Given the description of an element on the screen output the (x, y) to click on. 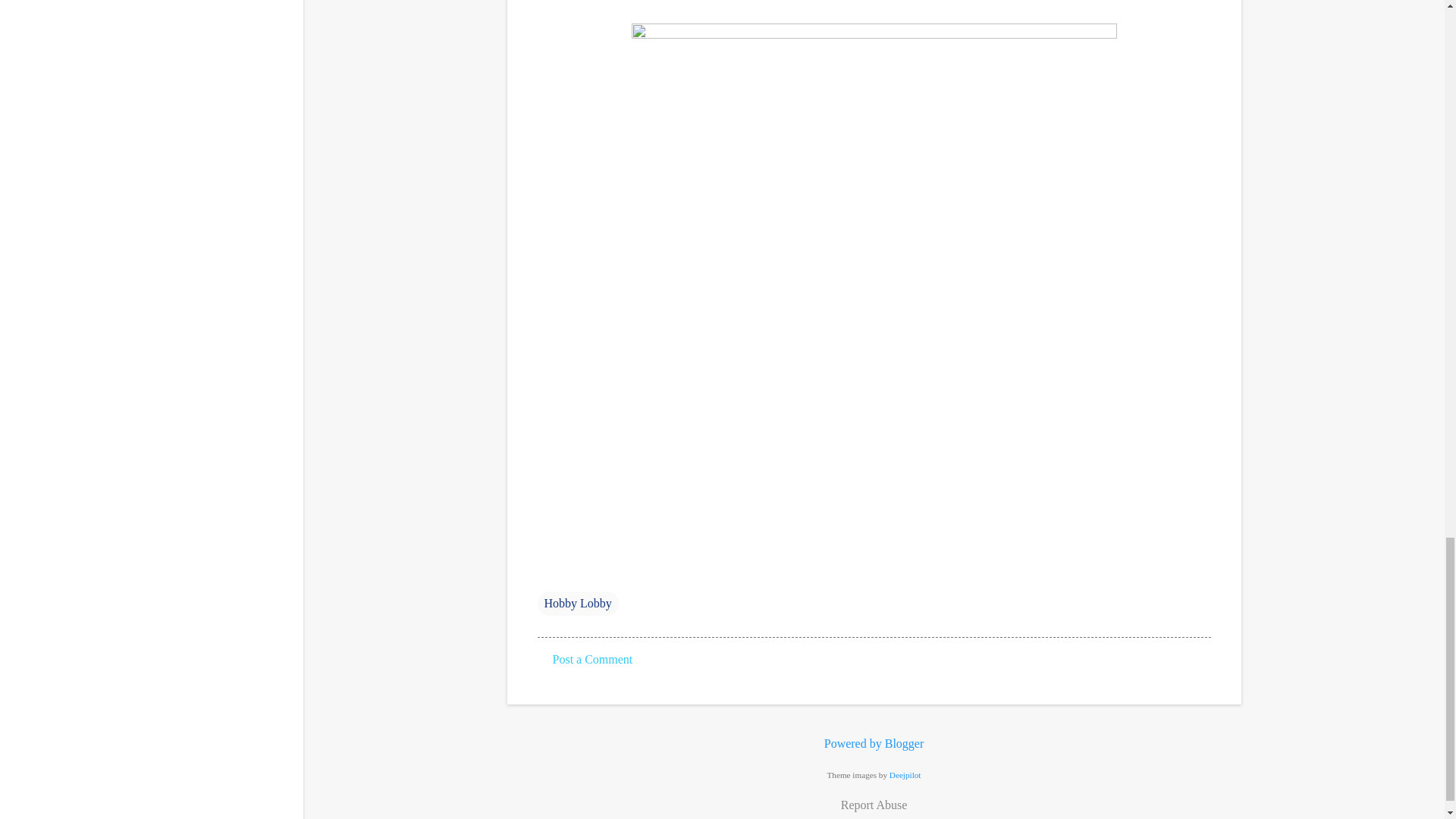
Hobby Lobby (577, 603)
Post a Comment (591, 658)
Powered by Blogger (874, 743)
Email Post (545, 572)
Deejpilot (905, 774)
Report Abuse (874, 805)
